Given the description of an element on the screen output the (x, y) to click on. 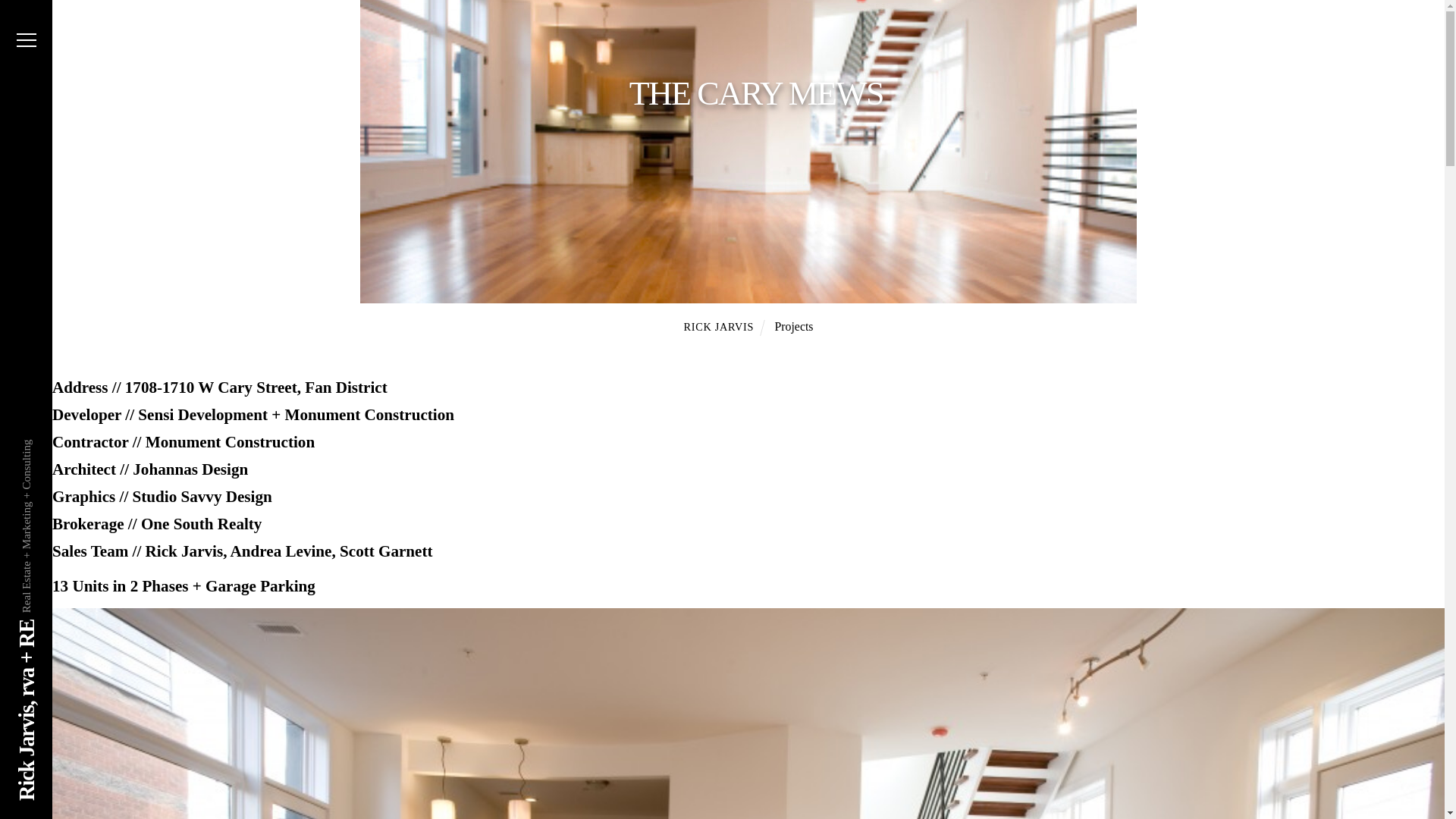
Monument Construction (229, 442)
Johannas Design (189, 469)
Menu (25, 39)
Monument Construction (369, 414)
1708-1710 W Cary Street, Fan District (256, 387)
Studio Savvy Design (202, 496)
Sensi Development (202, 414)
Projects (793, 326)
One South Realty (201, 524)
RICK JARVIS (719, 326)
